Given the description of an element on the screen output the (x, y) to click on. 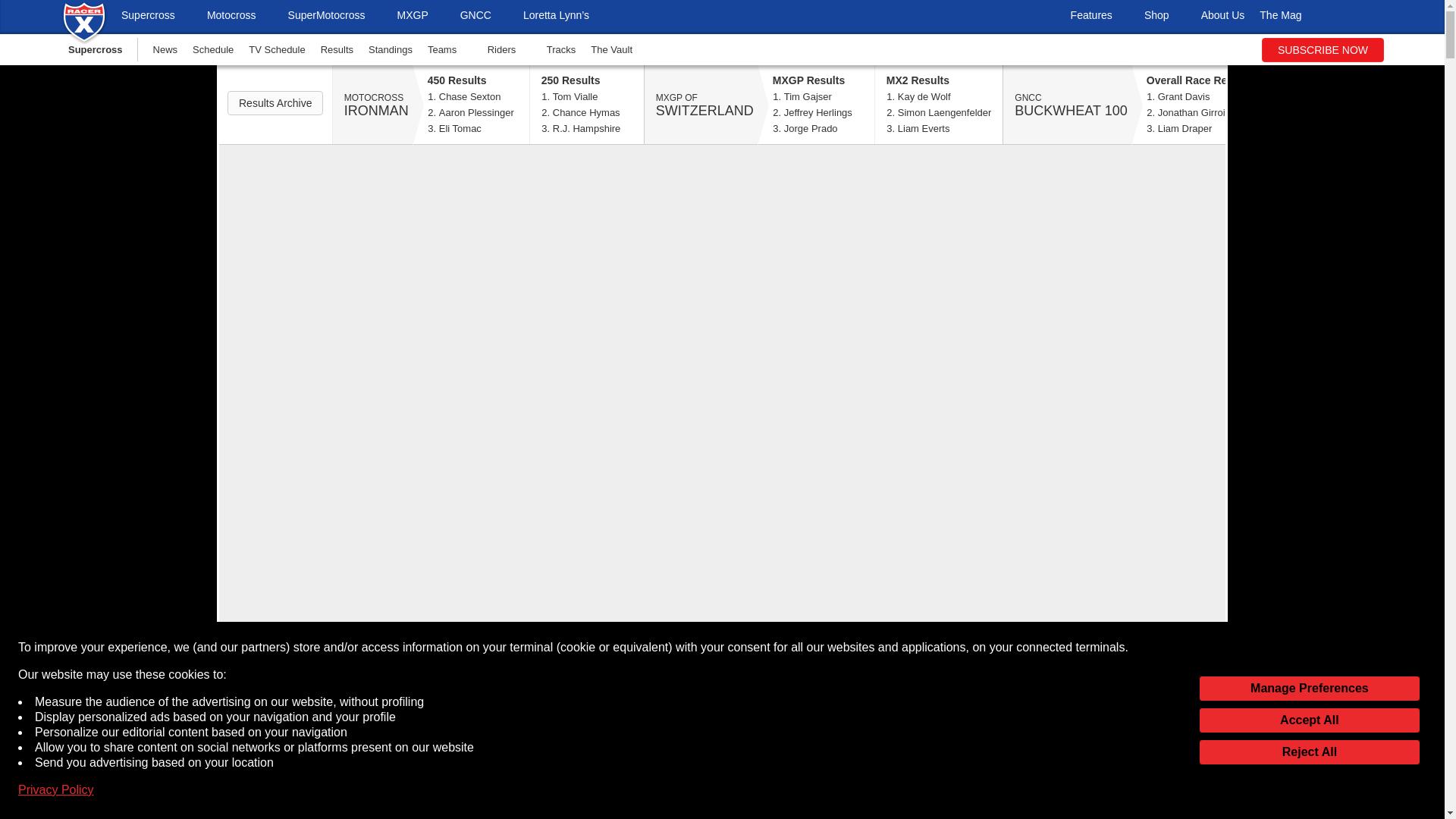
Privacy Policy (55, 789)
Accept All (1309, 720)
AMA Pro Motocross Championship (240, 17)
Supercross (156, 17)
Monster Energy AMA Supercross Championship (156, 17)
Return Home (84, 41)
Manage Preferences (1309, 688)
Motocross (240, 17)
SuperMotocross (335, 17)
